Given the description of an element on the screen output the (x, y) to click on. 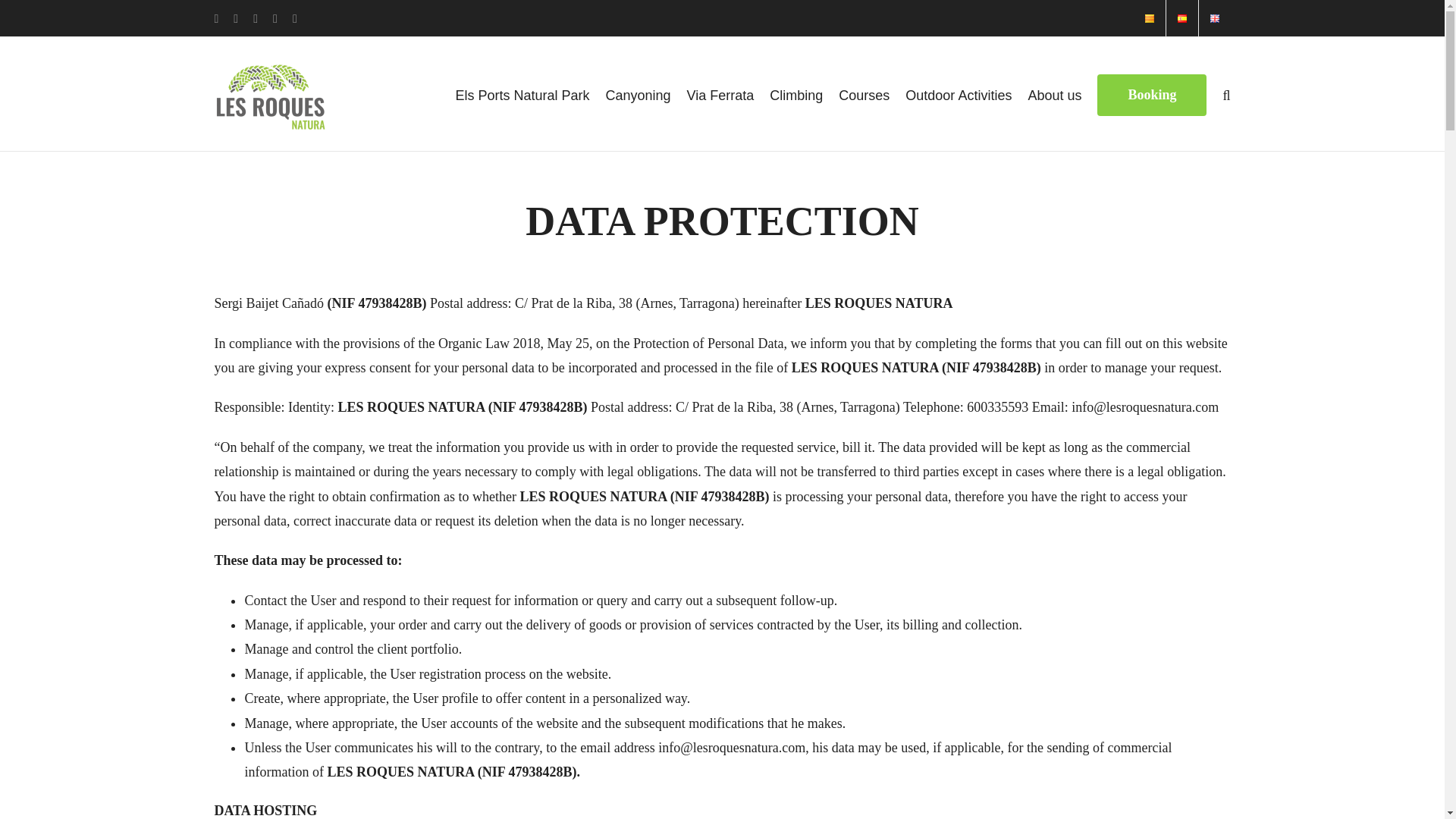
Booking (1152, 93)
Els Ports Natural Park (521, 93)
Outdoor Activities (958, 93)
